Given the description of an element on the screen output the (x, y) to click on. 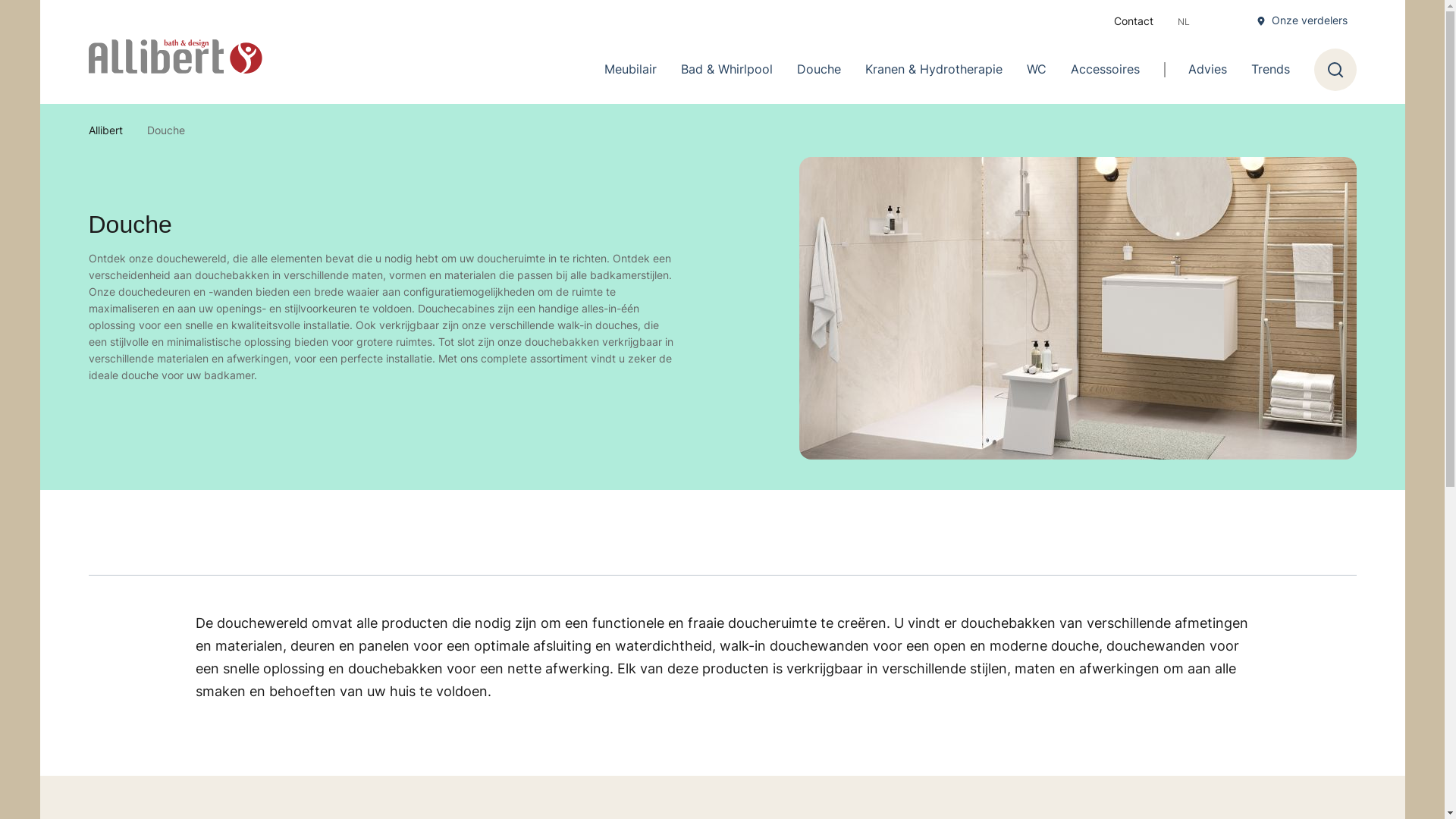
Kranen & Hydrotherapie Element type: text (932, 69)
Meubilair Element type: text (629, 69)
Trends Element type: text (1270, 69)
Bad & Whirlpool Element type: text (726, 69)
Zoeken Element type: text (1334, 69)
Douche Element type: text (818, 69)
Onze verdelers Element type: text (1300, 20)
WC Element type: text (1036, 69)
Accessoires Element type: text (1104, 69)
Allibert Element type: text (104, 129)
Advies Element type: text (1206, 69)
